Given the description of an element on the screen output the (x, y) to click on. 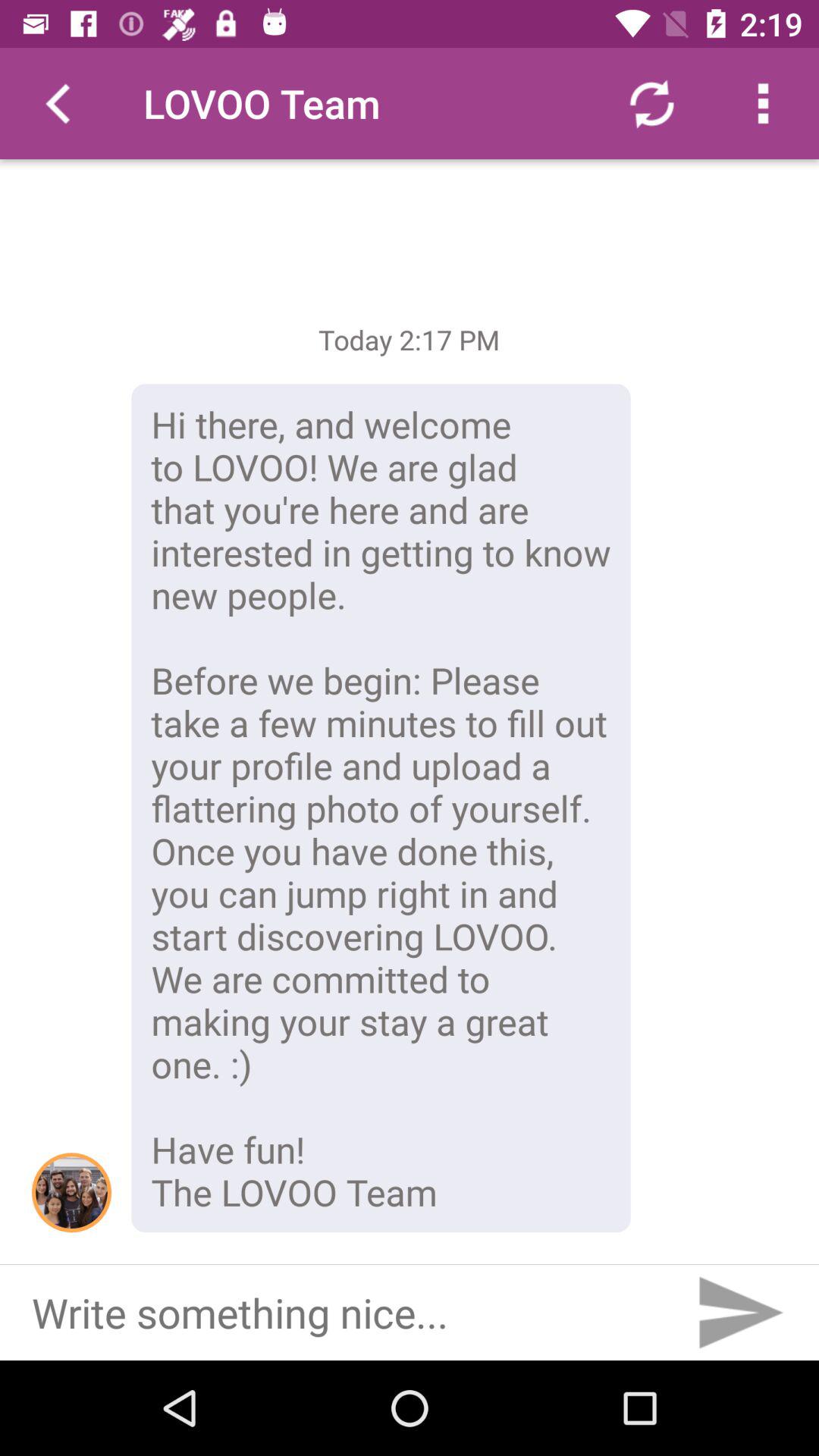
tap icon next to hi there and item (71, 1192)
